Given the description of an element on the screen output the (x, y) to click on. 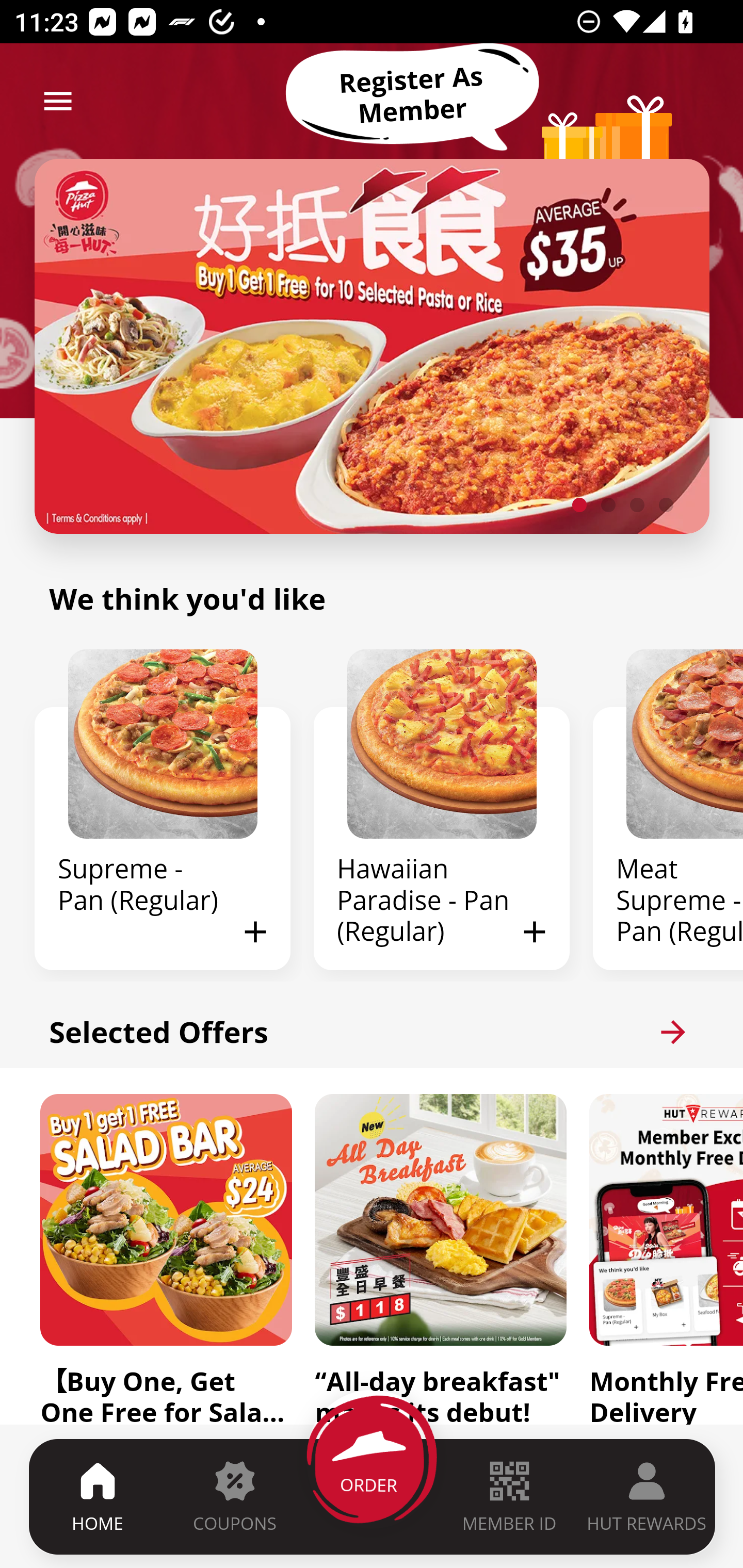
Register As Member (411, 95)
menu (58, 100)
arrow_forward (672, 1031)
HOME (97, 1496)
COUPONS (234, 1496)
ORDER (372, 1496)
MEMBER ID (509, 1496)
HUT REWARDS (647, 1496)
